Given the description of an element on the screen output the (x, y) to click on. 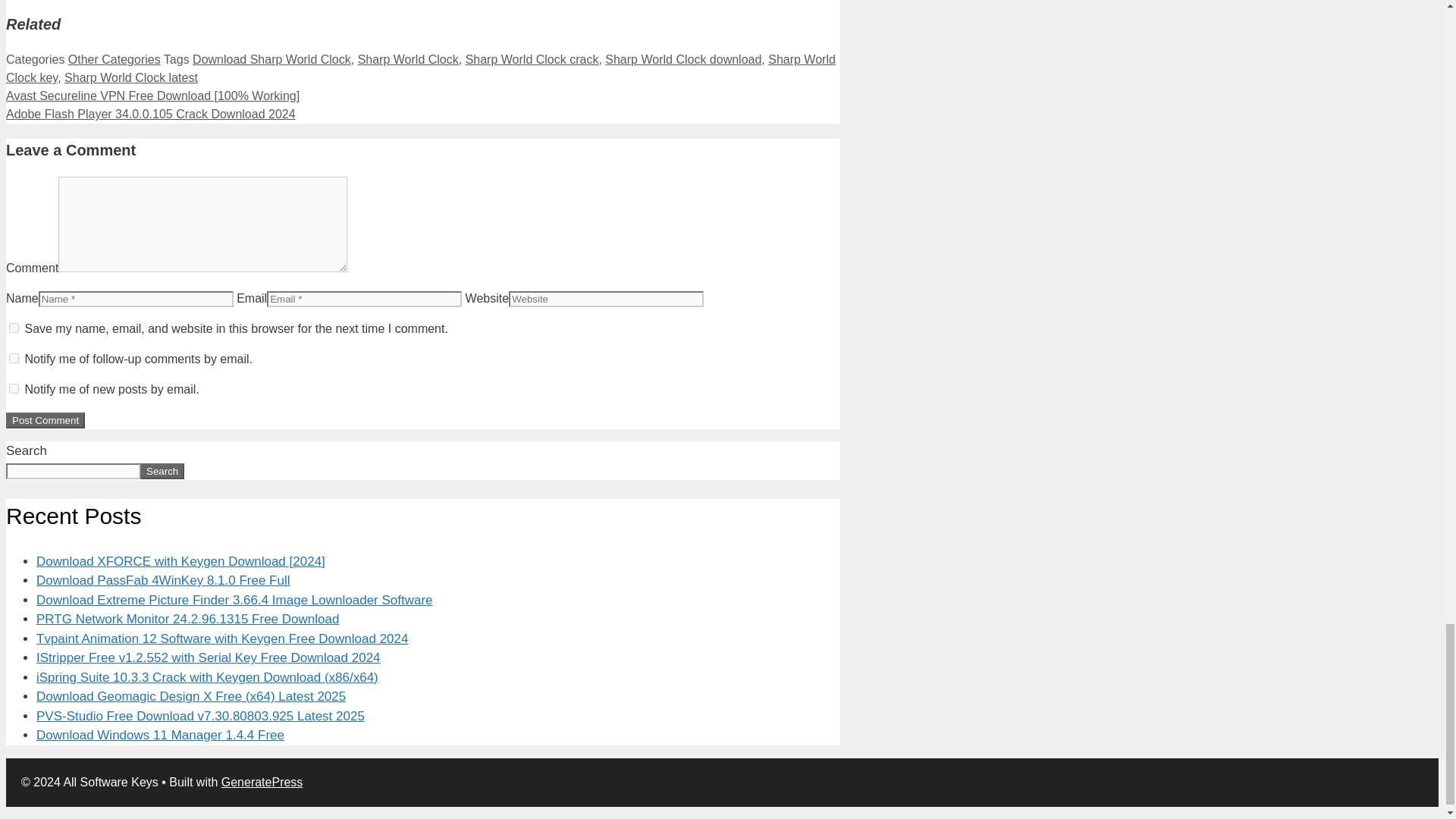
yes (13, 327)
Post Comment (44, 420)
subscribe (13, 357)
subscribe (13, 388)
